Given the description of an element on the screen output the (x, y) to click on. 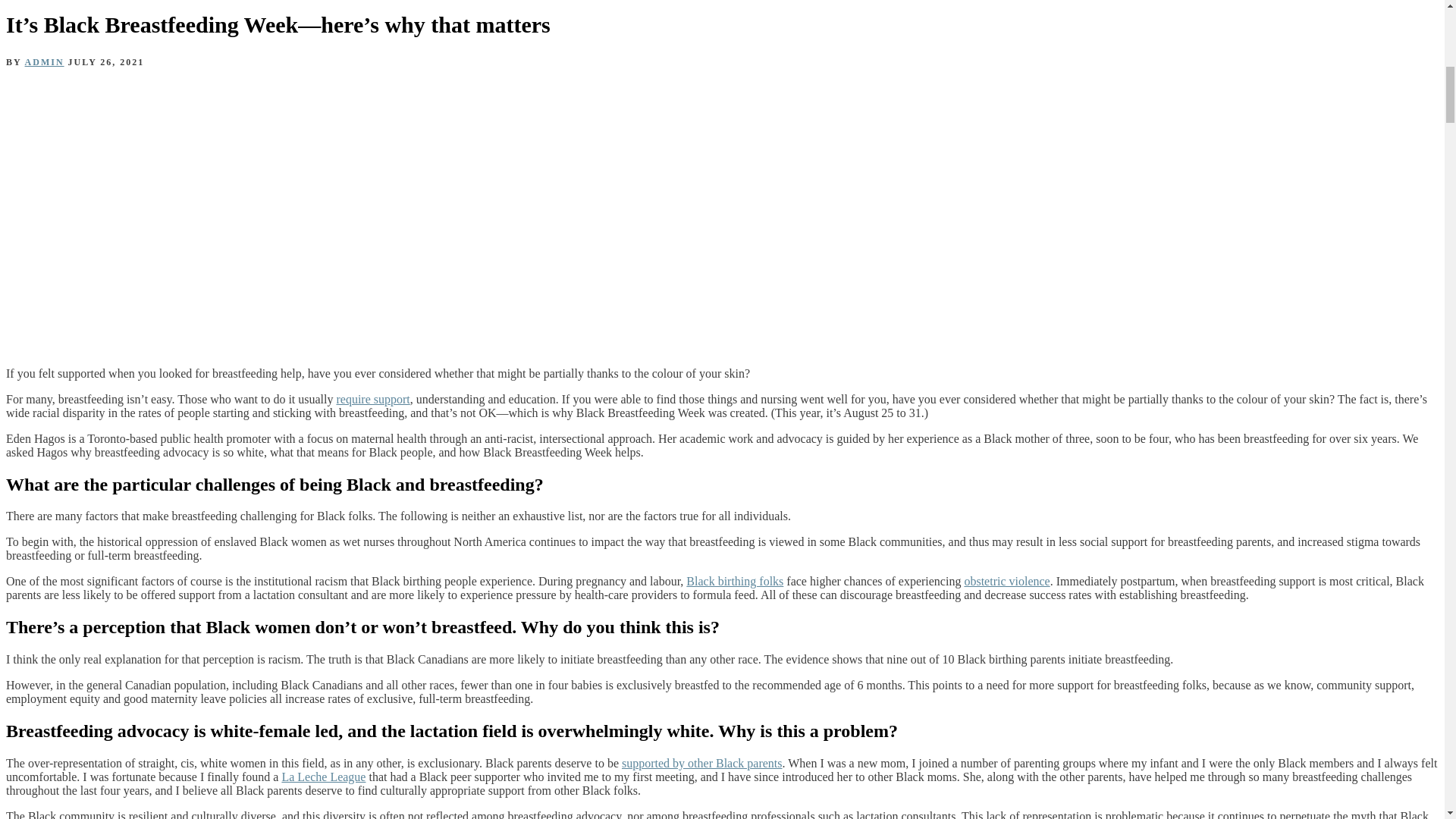
require support (372, 399)
ADMIN (44, 61)
Black birthing folks (734, 581)
supported by other Black parents (702, 762)
La Leche League (323, 776)
obstetric violence (1006, 581)
